Given the description of an element on the screen output the (x, y) to click on. 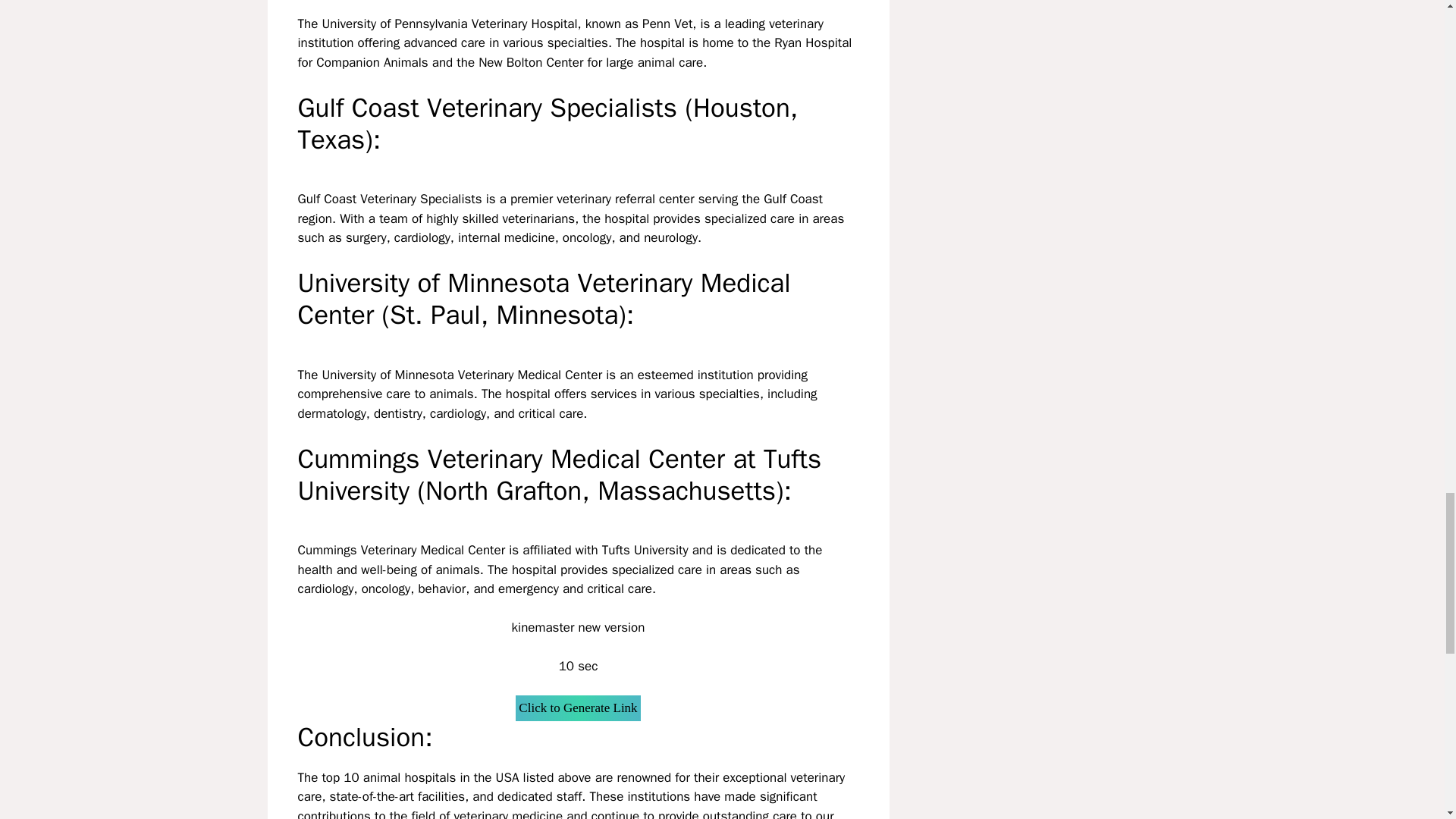
Click to Generate Link (577, 708)
